Given the description of an element on the screen output the (x, y) to click on. 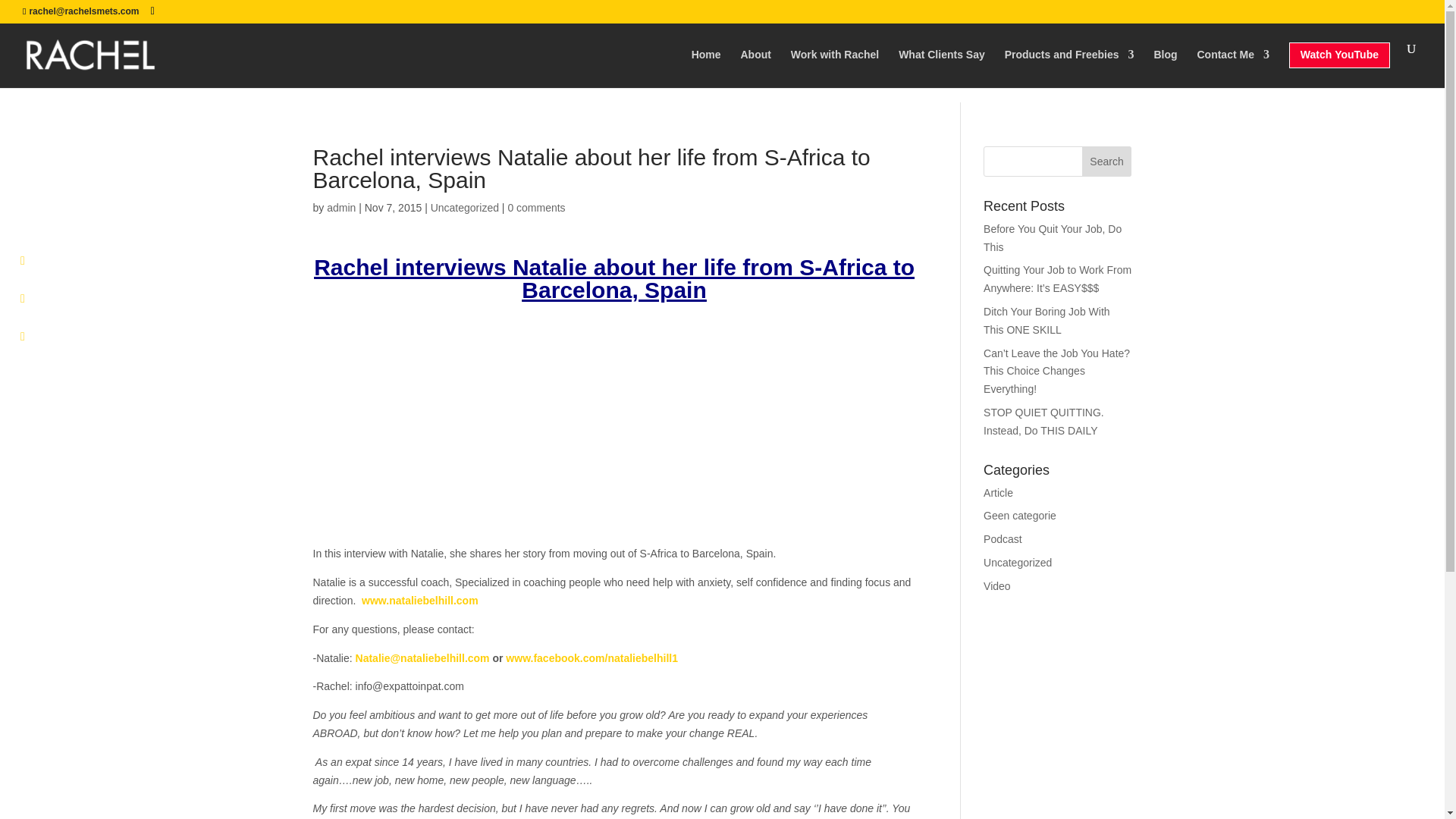
Uncategorized (464, 207)
Watch YouTube (1339, 64)
Posts by admin (340, 207)
Products and Freebies (1069, 64)
0 comments (535, 207)
admin (340, 207)
www.nataliebelhill.com (420, 600)
Home (705, 64)
About (754, 64)
Search (1106, 161)
